Given the description of an element on the screen output the (x, y) to click on. 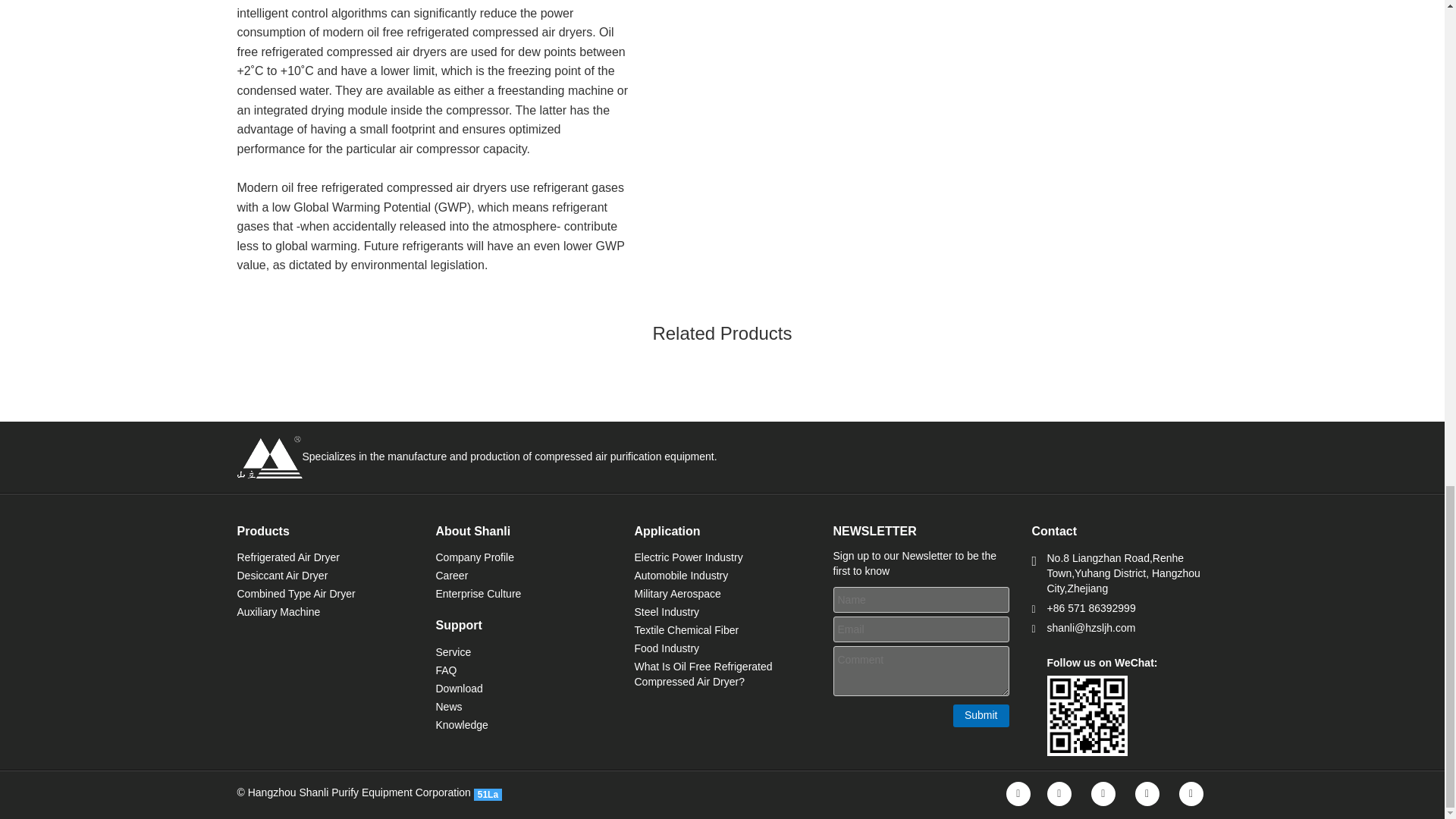
Knowledge (461, 725)
About Shanli (473, 530)
Desiccant Air Dryer (281, 575)
Career (451, 575)
Service (452, 652)
FAQ (446, 670)
Auxiliary Machine (277, 612)
News (448, 706)
Application (666, 530)
Refrigerated Air Dryer (287, 557)
Combined Type Air Dryer (295, 593)
Download (458, 688)
Company Profile (474, 557)
Products (261, 530)
Support (458, 625)
